Given the description of an element on the screen output the (x, y) to click on. 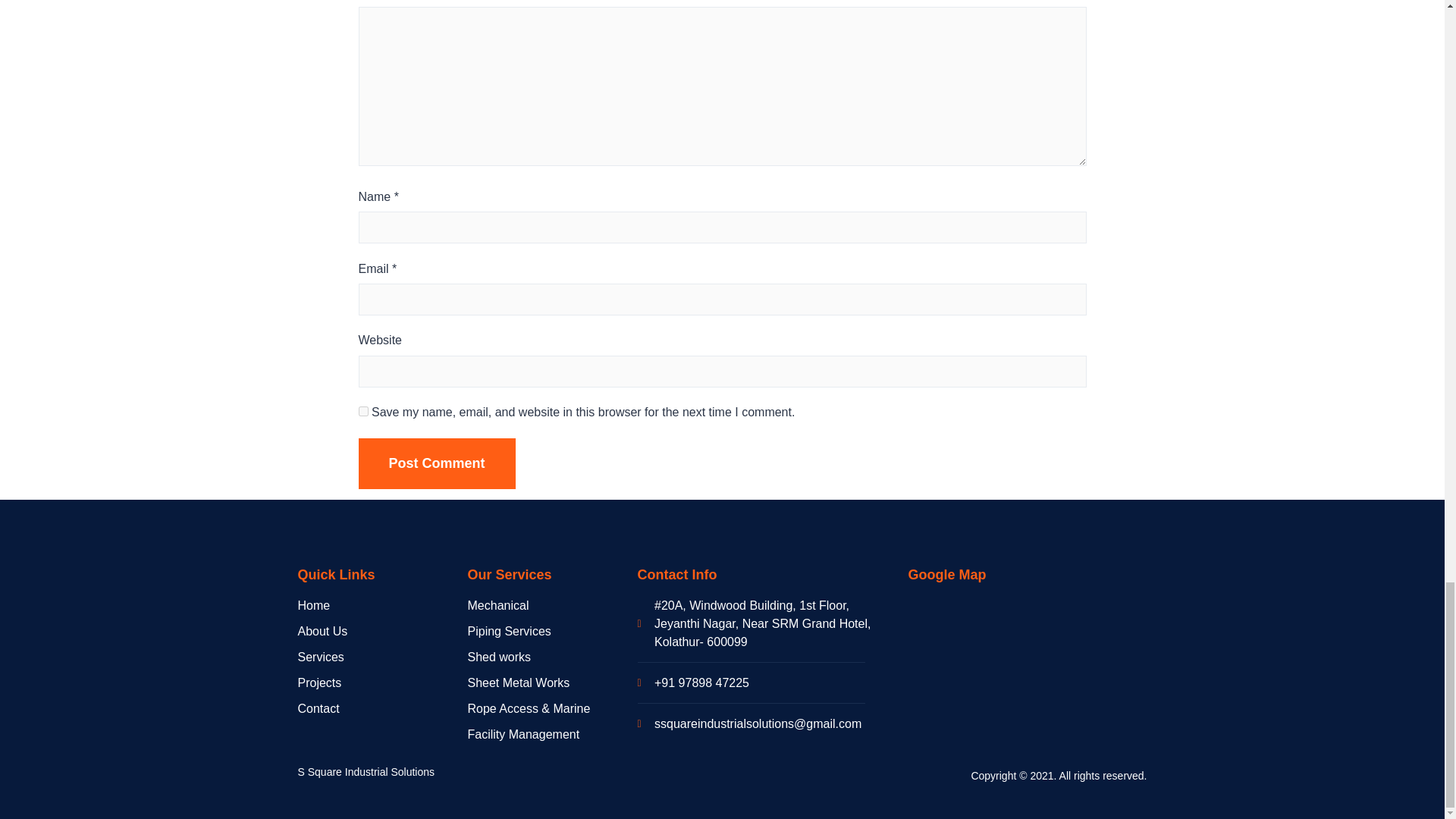
Projects (382, 683)
Shed works (552, 657)
Mechanical (552, 606)
Post Comment (436, 463)
Contact (382, 709)
Home (382, 606)
Services (382, 657)
About Us (382, 631)
Facility Management (552, 734)
yes (363, 411)
Post Comment (436, 463)
Sheet Metal Works (552, 683)
Piping Services (552, 631)
